Given the description of an element on the screen output the (x, y) to click on. 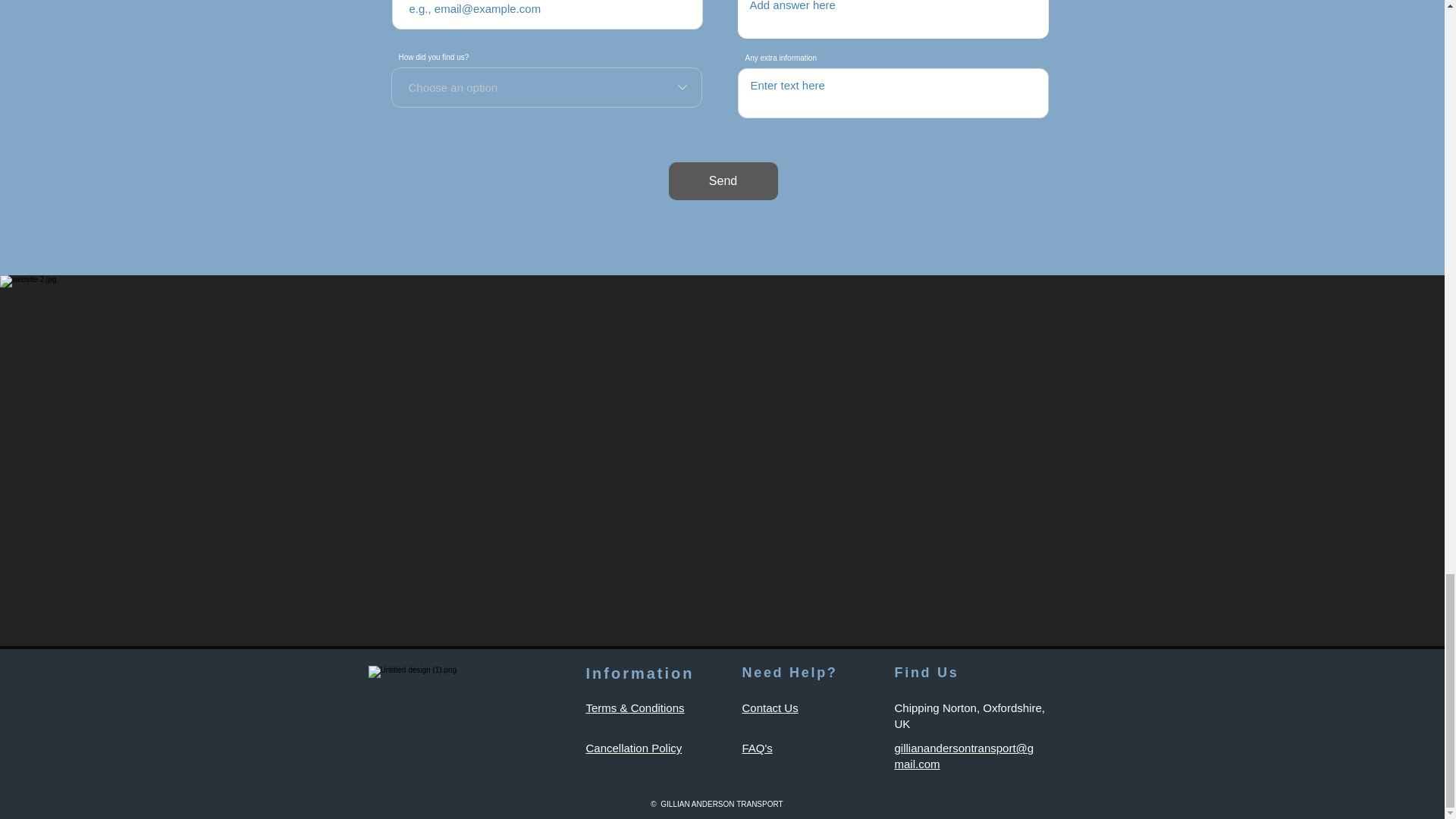
Send (722, 180)
Jerry Full Day Hire (1134, 92)
Jerry Half Day Hire (1135, 123)
Contact Us (769, 707)
FAQ's (756, 748)
Jerry Pay-as-you-go  (1133, 155)
Directions (1124, 179)
Cancellation Policy (633, 748)
Tom Full Day Hire (1132, 60)
